Given the description of an element on the screen output the (x, y) to click on. 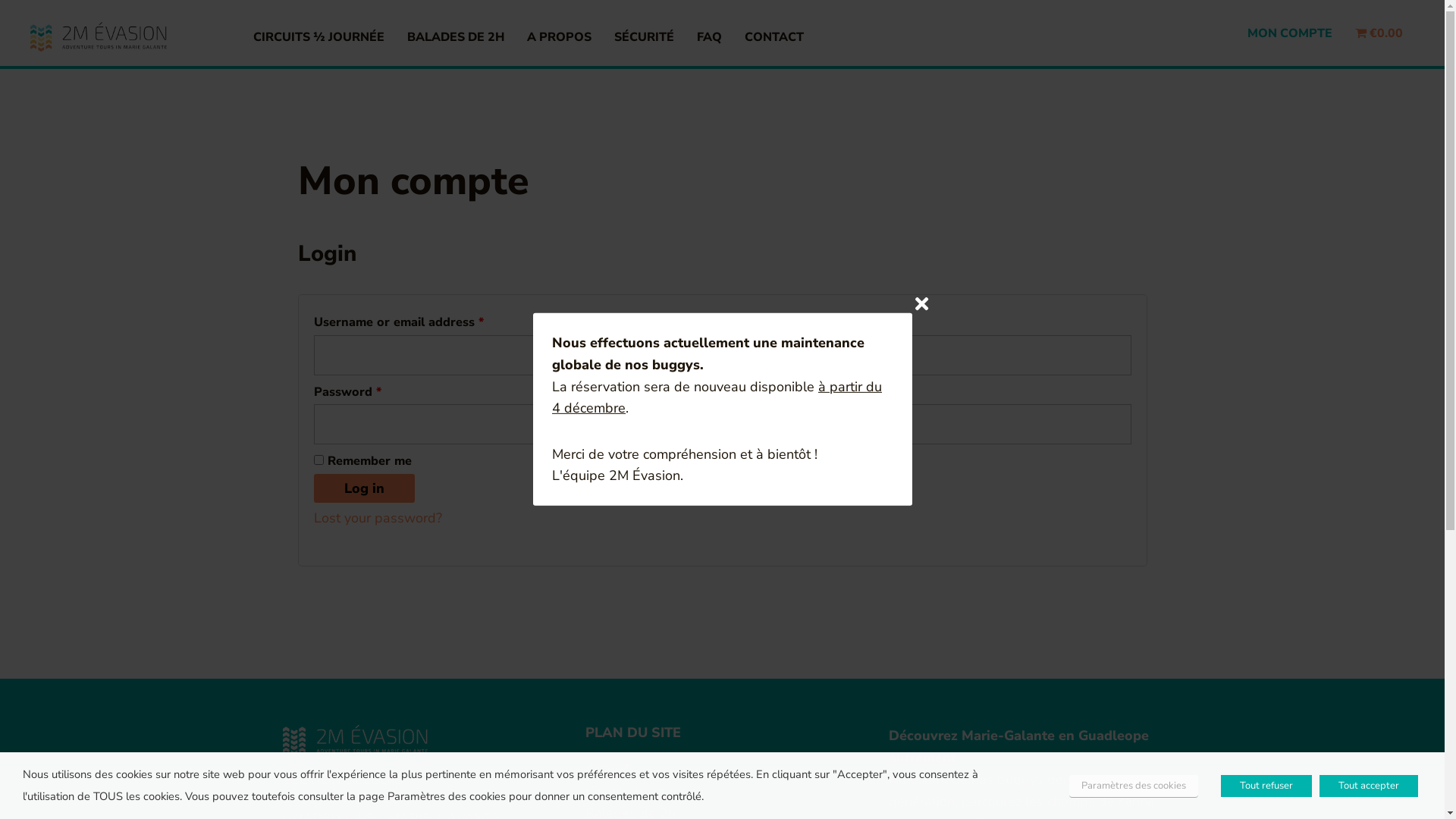
BALADES DE 2H Element type: text (455, 36)
Accueil Element type: text (721, 767)
Lost your password? Element type: text (377, 517)
CONTACT Element type: text (774, 36)
logo_slogan_couleur Element type: hover (98, 35)
Tout accepter Element type: text (1368, 786)
logo_footer Element type: hover (354, 739)
Log in Element type: text (363, 487)
Tout refuser Element type: text (1265, 786)
MON COMPTE Element type: text (1289, 33)
FAQ Element type: text (709, 36)
A PROPOS Element type: text (559, 36)
